Given the description of an element on the screen output the (x, y) to click on. 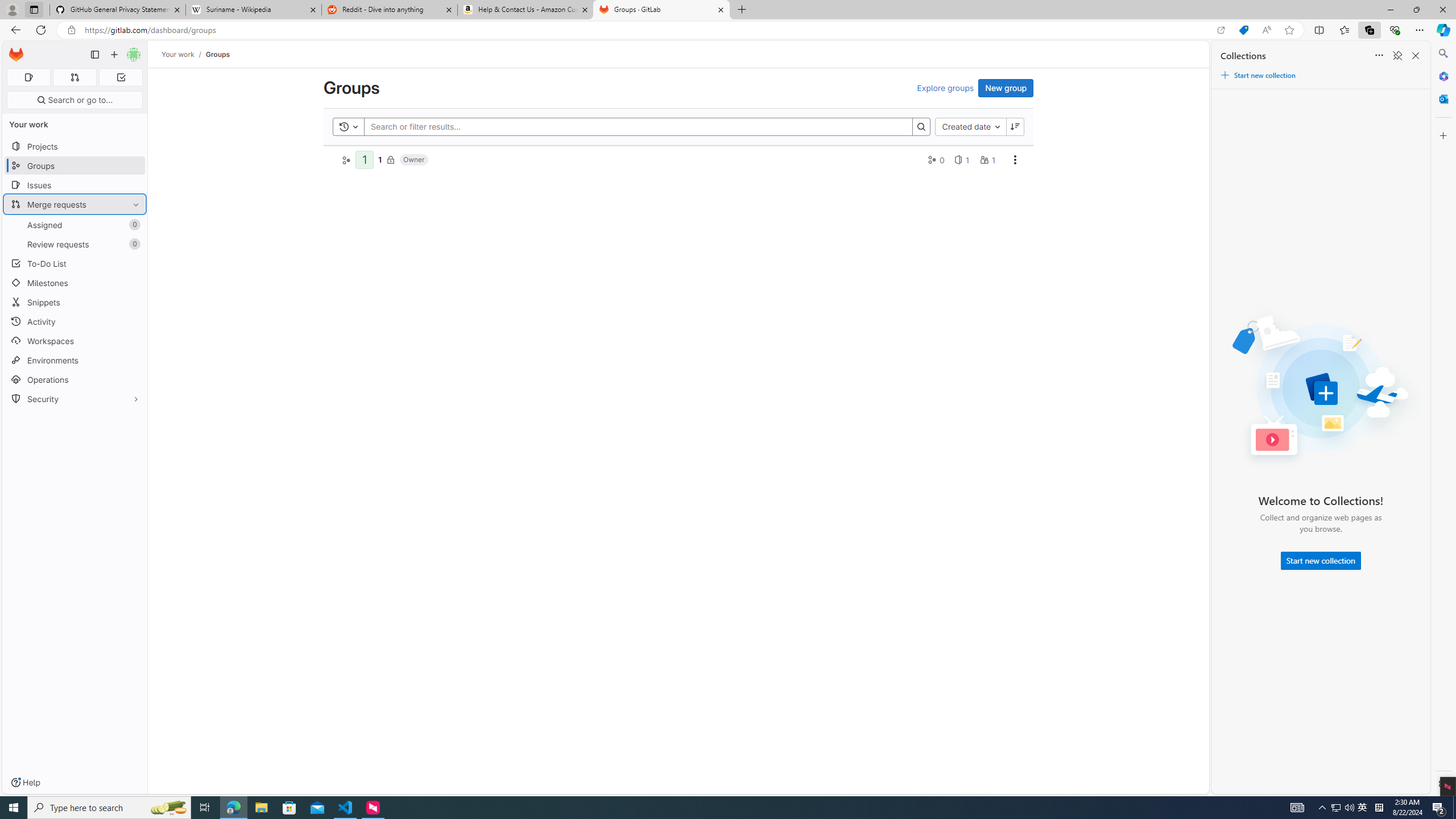
Create new... (113, 54)
Operations (74, 379)
Environments (74, 359)
Sort (1379, 55)
Activity (74, 321)
To-Do List (74, 262)
Security (74, 398)
